Given the description of an element on the screen output the (x, y) to click on. 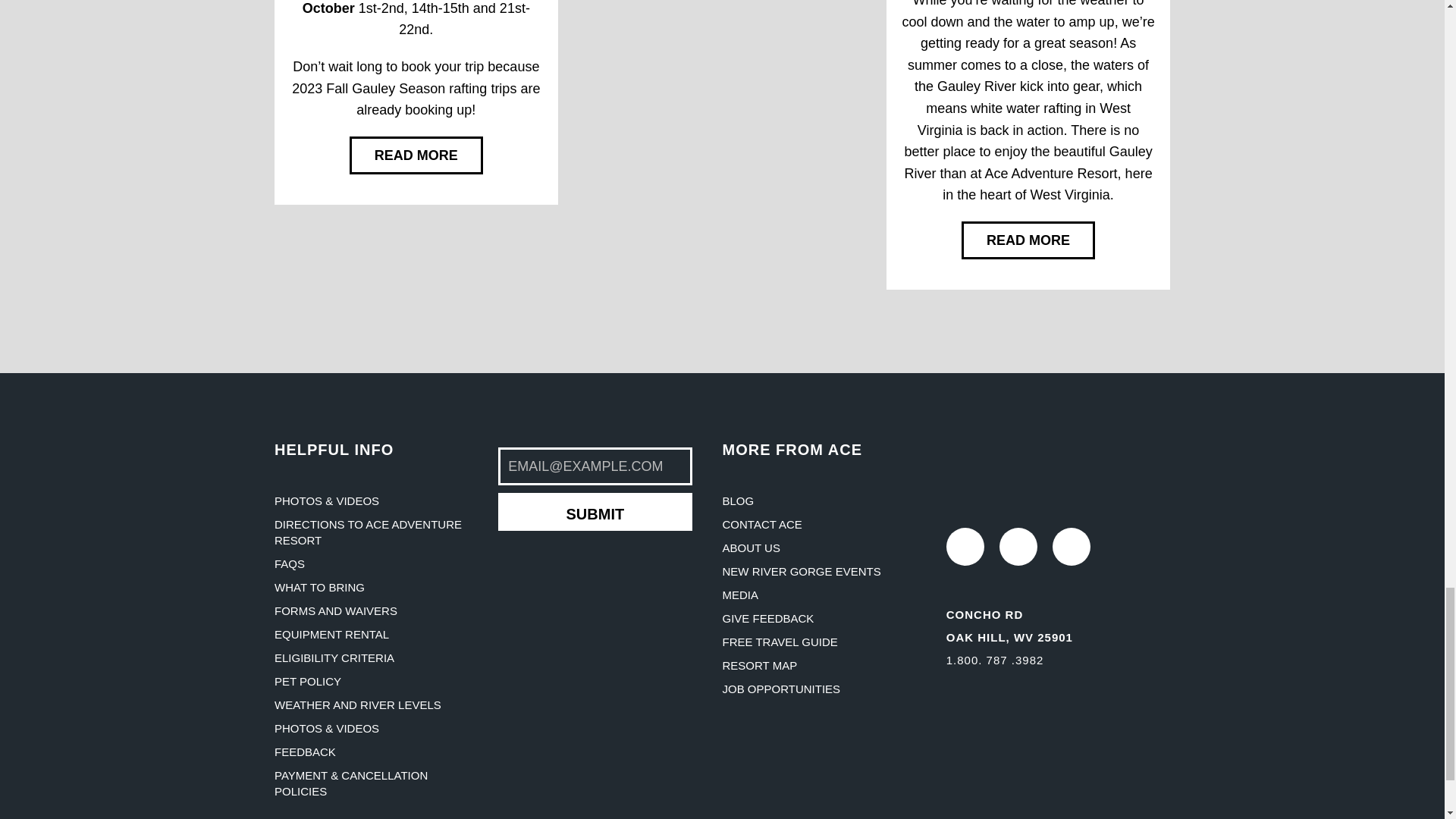
ACE Adventure resort (1029, 465)
Visit our Facebook page (1017, 546)
Visit our Instagram page (965, 546)
Visit our Twitter page (1071, 546)
Submit (594, 511)
